Given the description of an element on the screen output the (x, y) to click on. 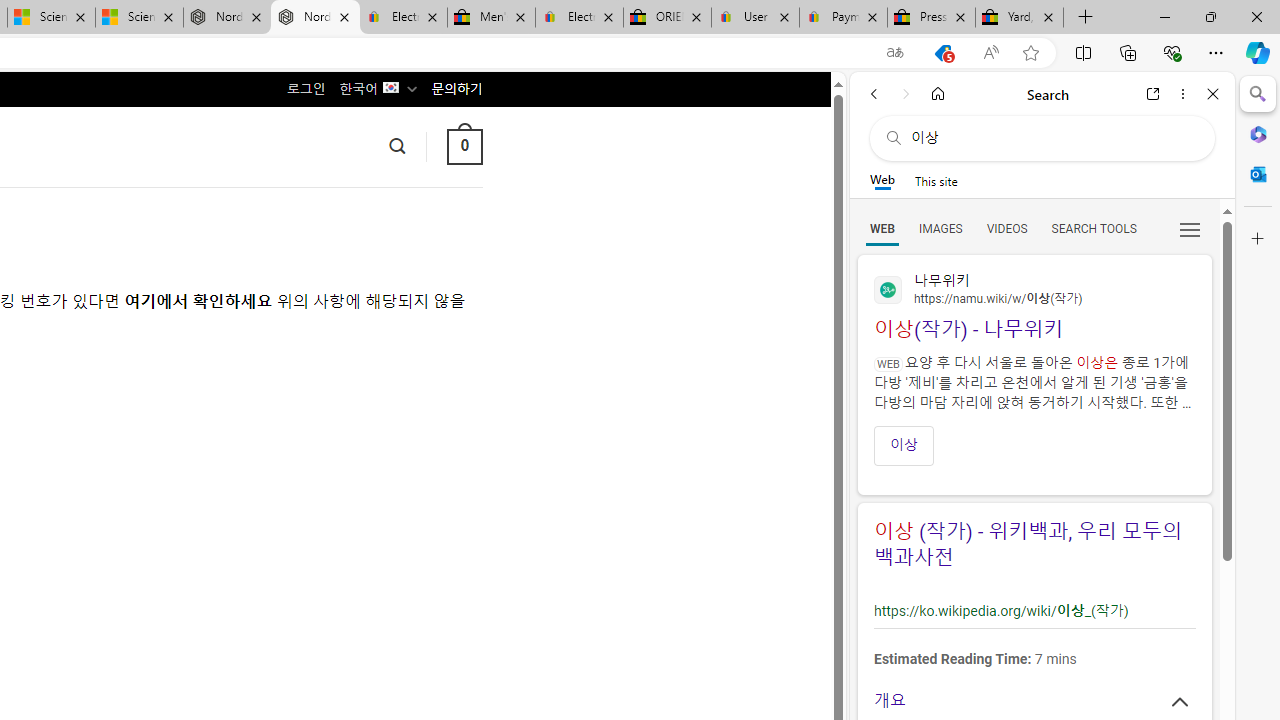
Class: b_serphb (1190, 229)
This site scope (936, 180)
Search Filter, IMAGES (939, 228)
Estimated Reading Time: 7 mins (1032, 657)
Yard, Garden & Outdoor Living (1019, 17)
